Given the description of an element on the screen output the (x, y) to click on. 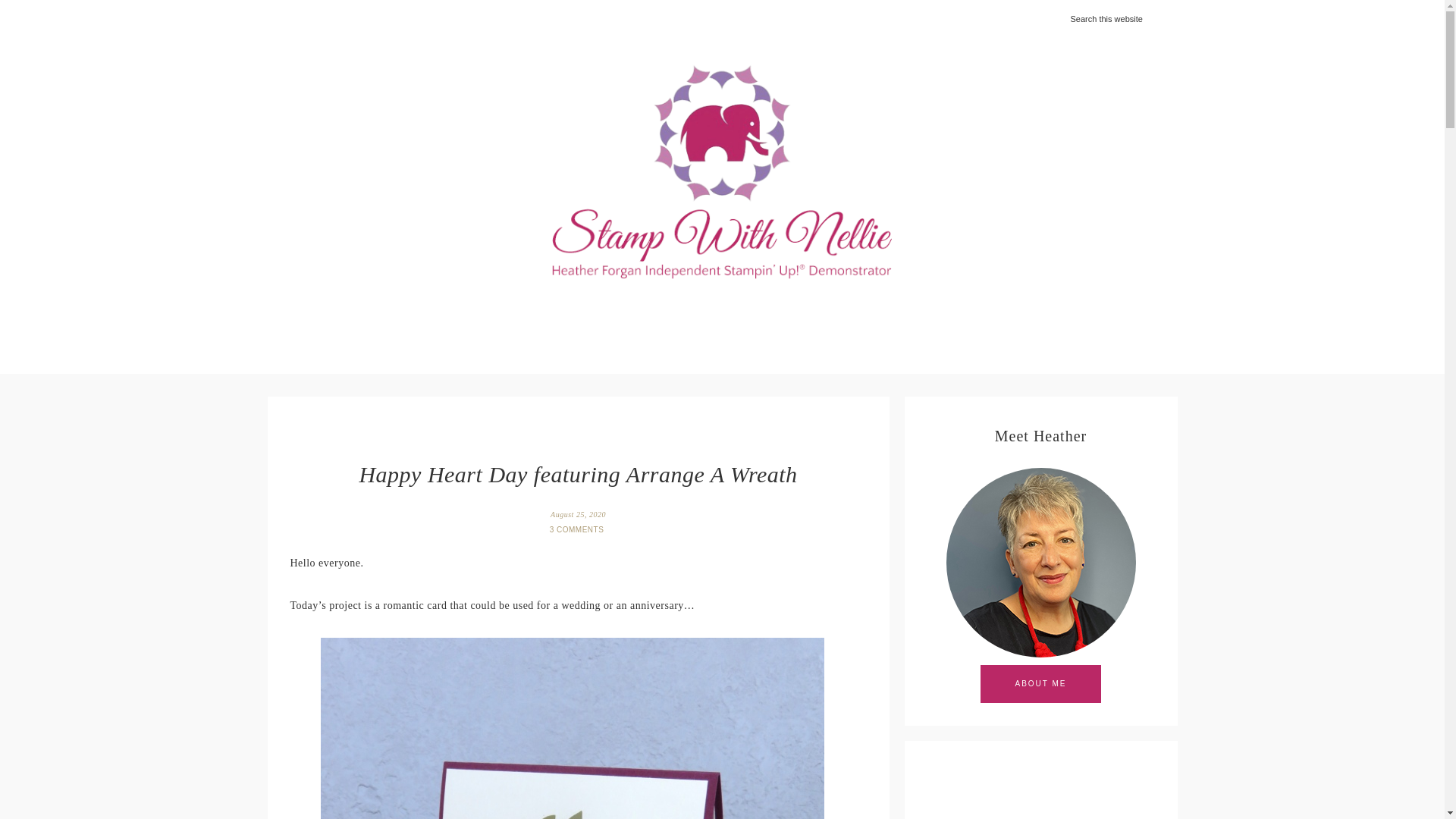
CONTACT ME (989, 323)
3 COMMENTS (578, 529)
SHOP NOW (587, 323)
ABOUT (503, 323)
HOST CODE (687, 323)
HOME (433, 323)
